Given the description of an element on the screen output the (x, y) to click on. 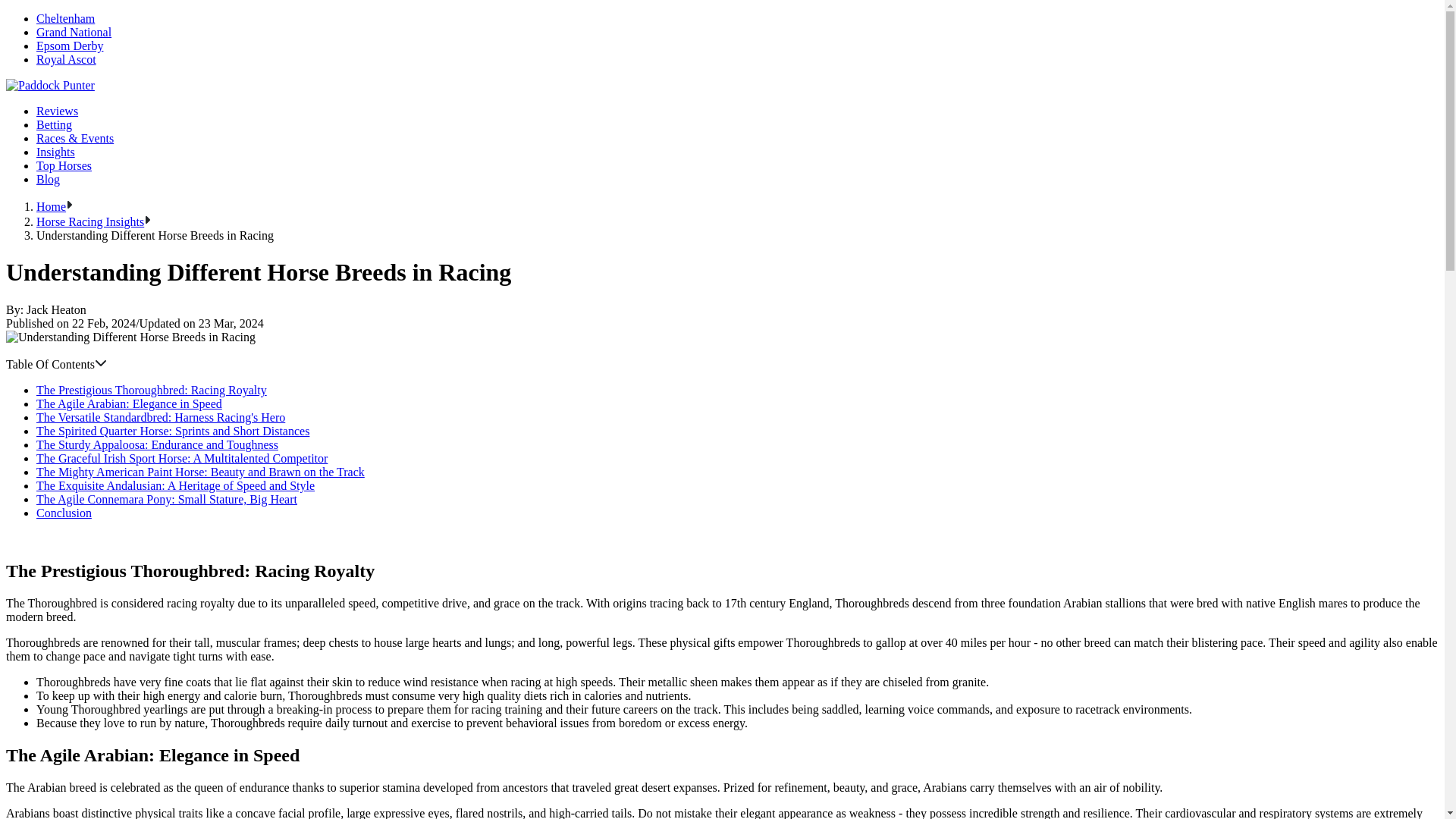
The Agile Arabian: Elegance in Speed (129, 403)
Betting (53, 124)
Grand National (74, 31)
Royal Ascot (66, 59)
Cheltenham (65, 18)
Conclusion (63, 512)
The Sturdy Appaloosa: Endurance and Toughness (157, 444)
The Graceful Irish Sport Horse: A Multitalented Competitor (181, 458)
The Exquisite Andalusian: A Heritage of Speed and Style (175, 485)
Home (50, 205)
